Given the description of an element on the screen output the (x, y) to click on. 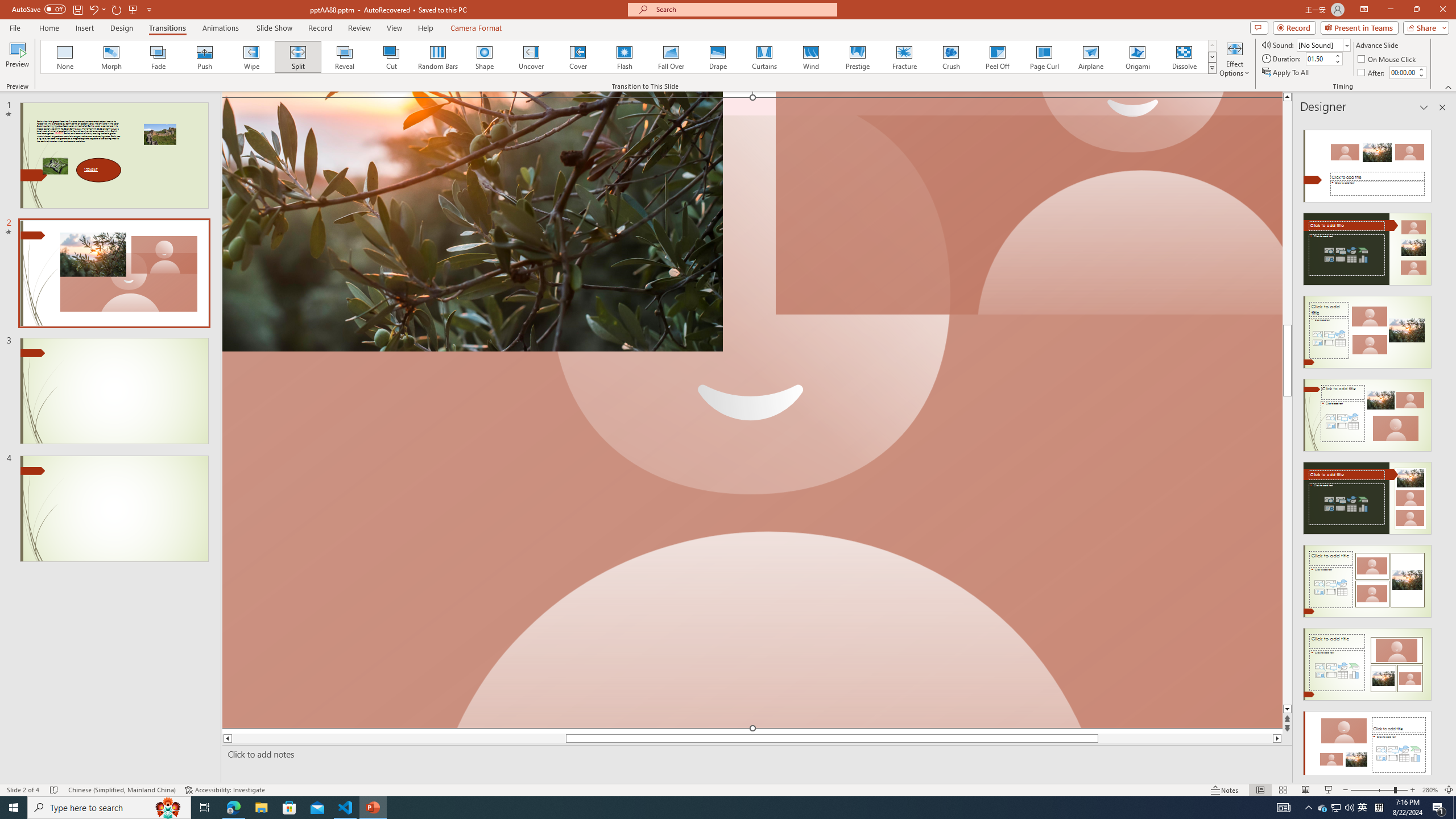
Page up (1287, 232)
Preview (17, 58)
More (1420, 69)
Airplane (1090, 56)
Transition Effects (1212, 67)
Fracture (903, 56)
Flash (624, 56)
AutomationID: AnimationTransitionGallery (628, 56)
Camera Format (475, 28)
On Mouse Click (1387, 58)
Less (1420, 75)
